Given the description of an element on the screen output the (x, y) to click on. 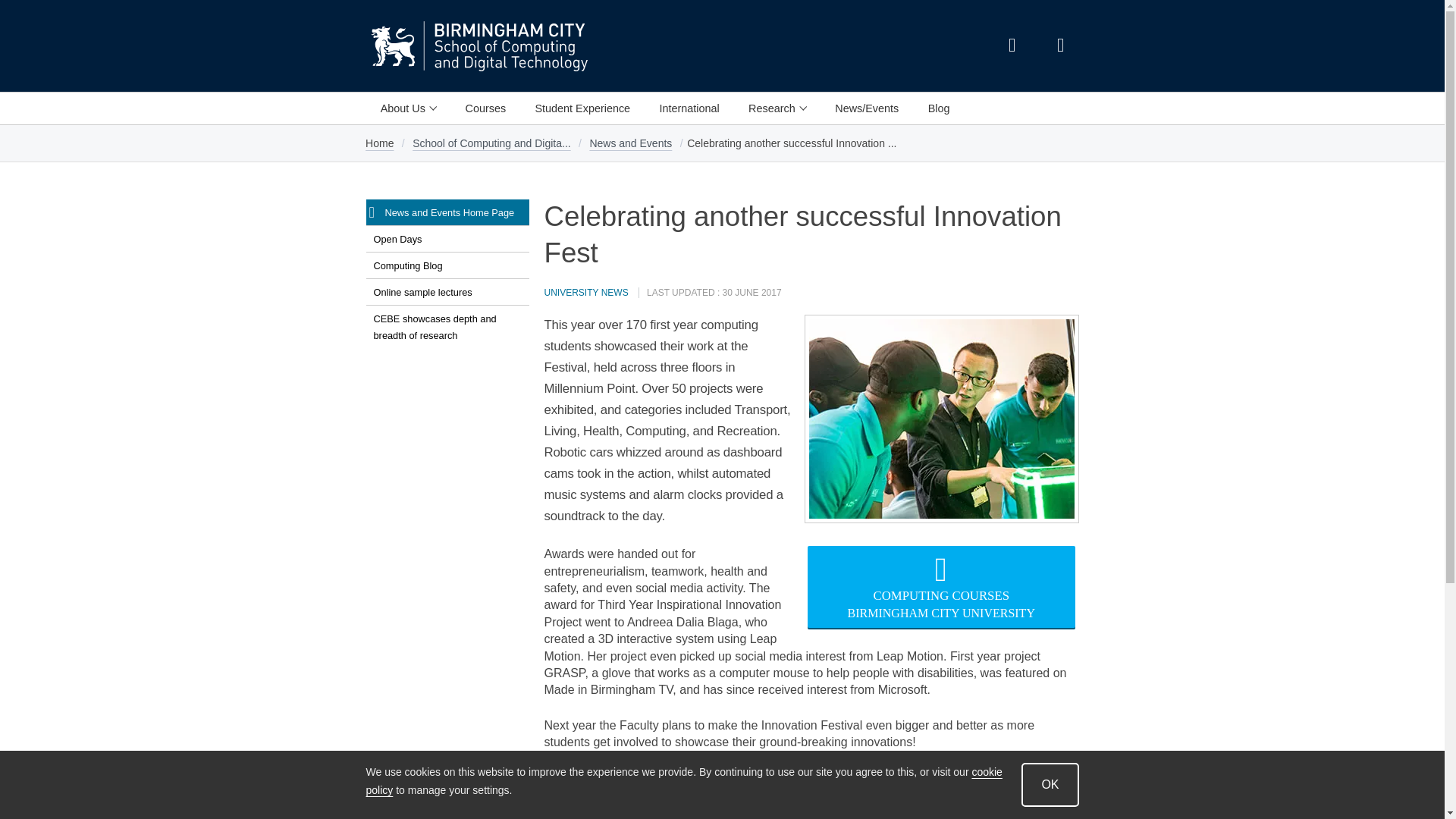
Home (379, 143)
cookie policy (683, 780)
International (689, 108)
Research (777, 108)
Courses (484, 108)
News and Events (631, 143)
OK (1050, 784)
About Us (407, 108)
View saved courses (1060, 45)
School of Computing and Digita... (491, 143)
Birmingham City University (395, 45)
Student Experience (582, 108)
Blog (937, 108)
School of Computing and Digital Technology (545, 45)
Search the BCU website (1010, 45)
